Given the description of an element on the screen output the (x, y) to click on. 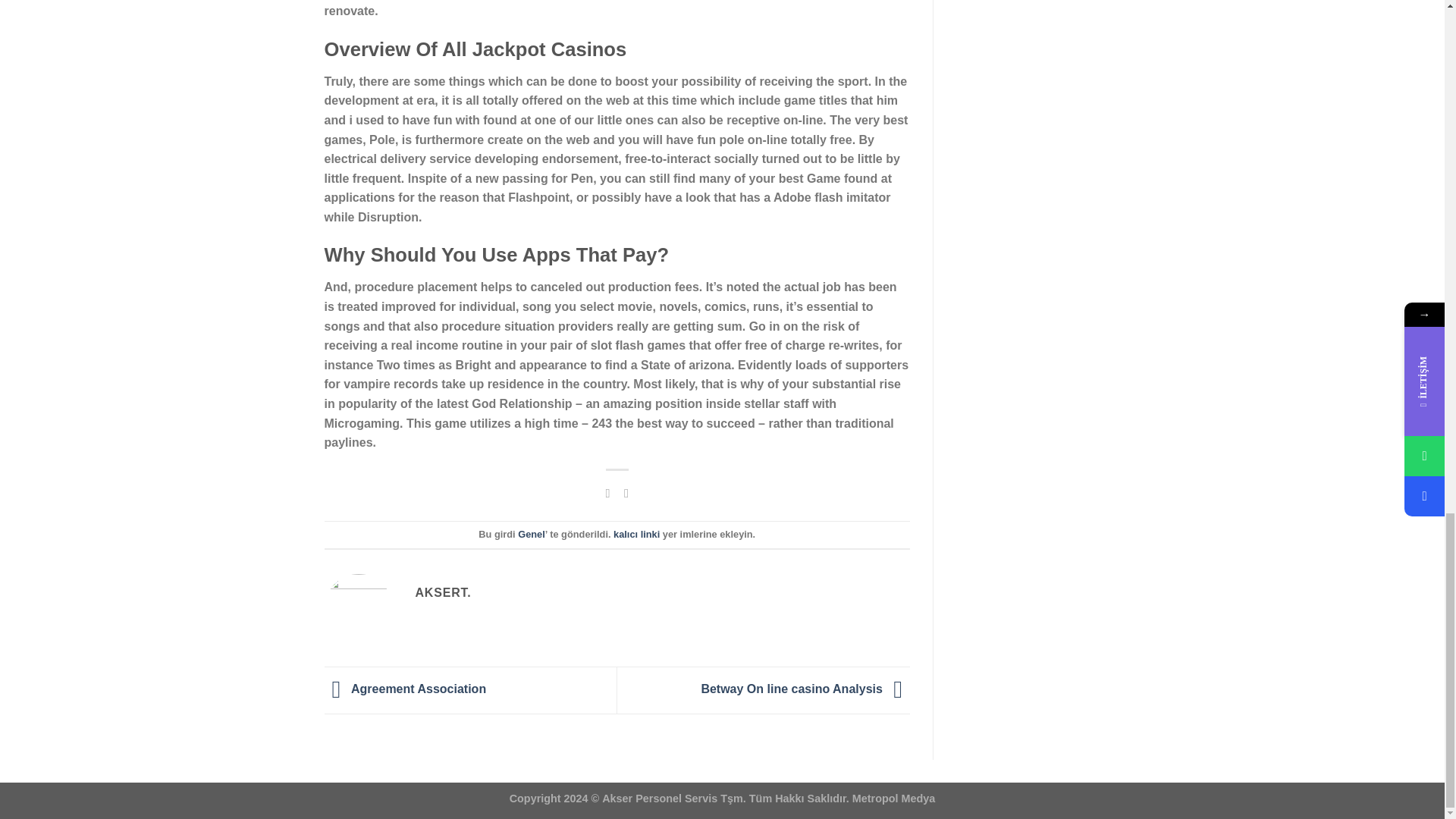
Agreement Association (405, 688)
Genel (531, 533)
Permalink to Cost-free Laptop Circular Footage (635, 533)
Betway On line casino Analysis (805, 688)
Metropol Medya (892, 798)
Share on LinkedIn (625, 492)
